Given the description of an element on the screen output the (x, y) to click on. 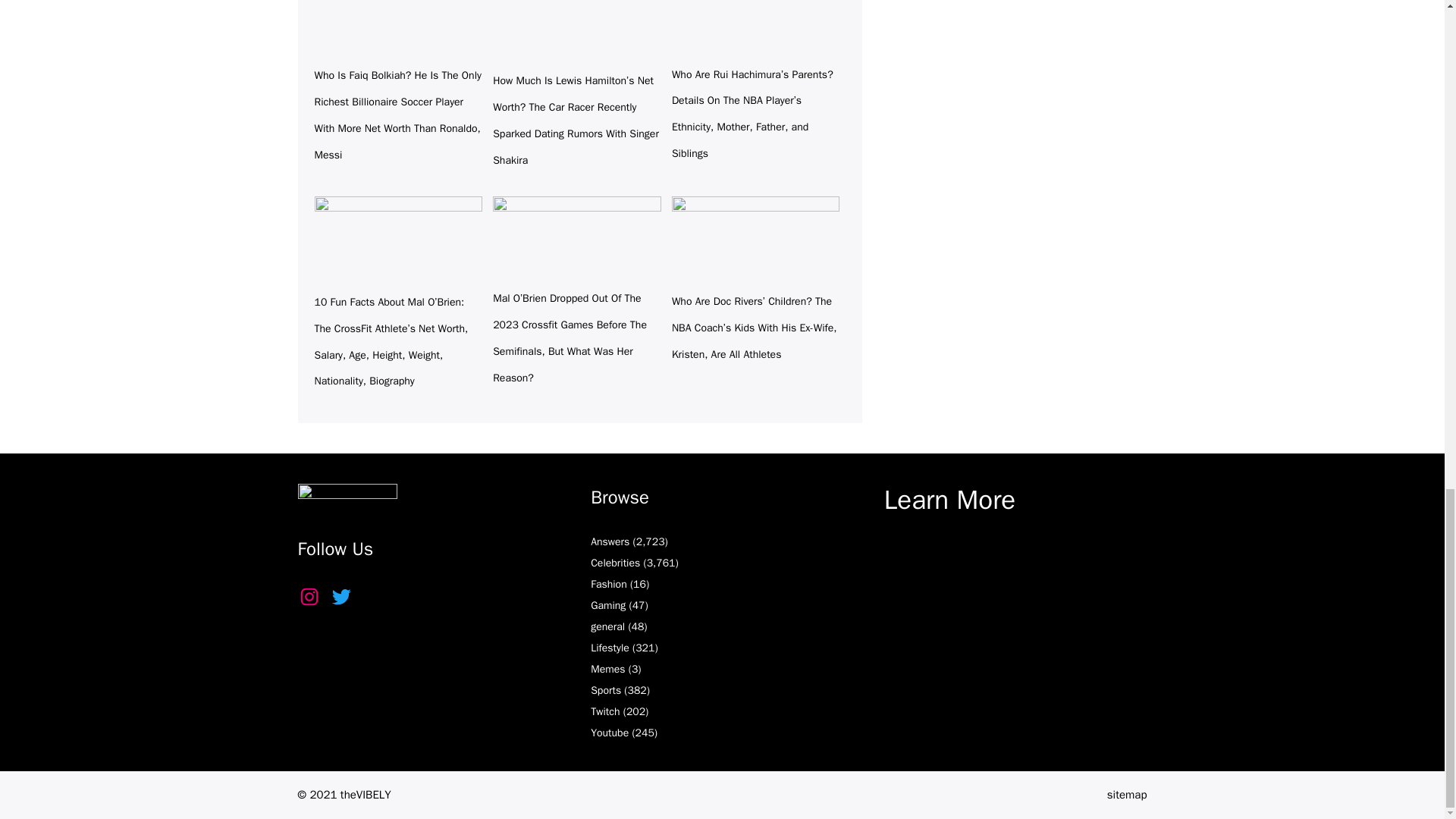
Answers (609, 541)
Instagram (308, 596)
Sports (606, 689)
Gaming (608, 604)
Twitter (340, 596)
Memes (607, 668)
general (607, 626)
Lifestyle (609, 647)
Fashion (609, 584)
